Given the description of an element on the screen output the (x, y) to click on. 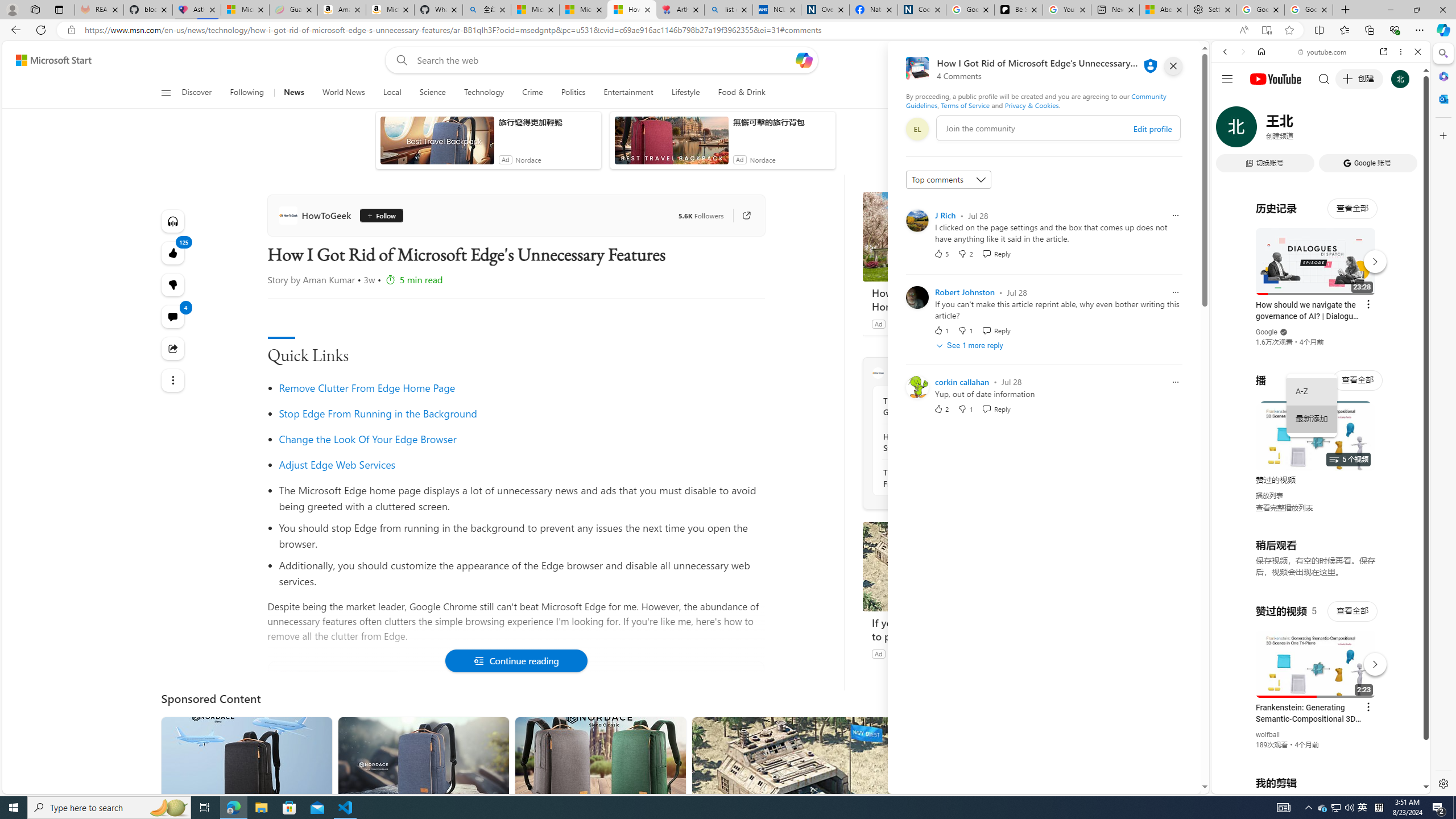
Class: button-glyph (165, 92)
Open settings (1175, 60)
Arthritis: Ask Health Professionals (679, 9)
Edit profile (1152, 128)
Personalize (1006, 92)
